Given the description of an element on the screen output the (x, y) to click on. 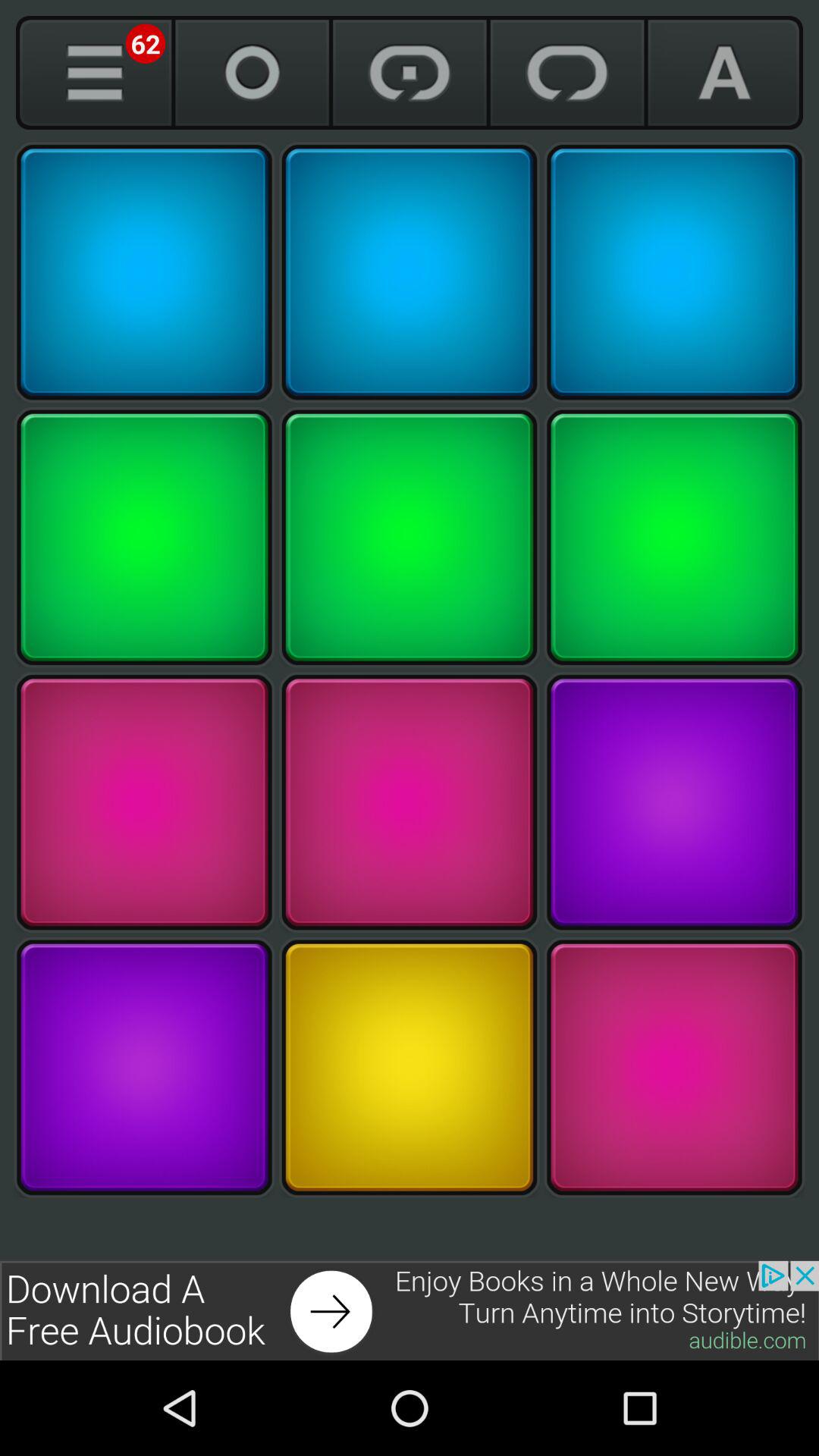
select blue color (674, 272)
